Given the description of an element on the screen output the (x, y) to click on. 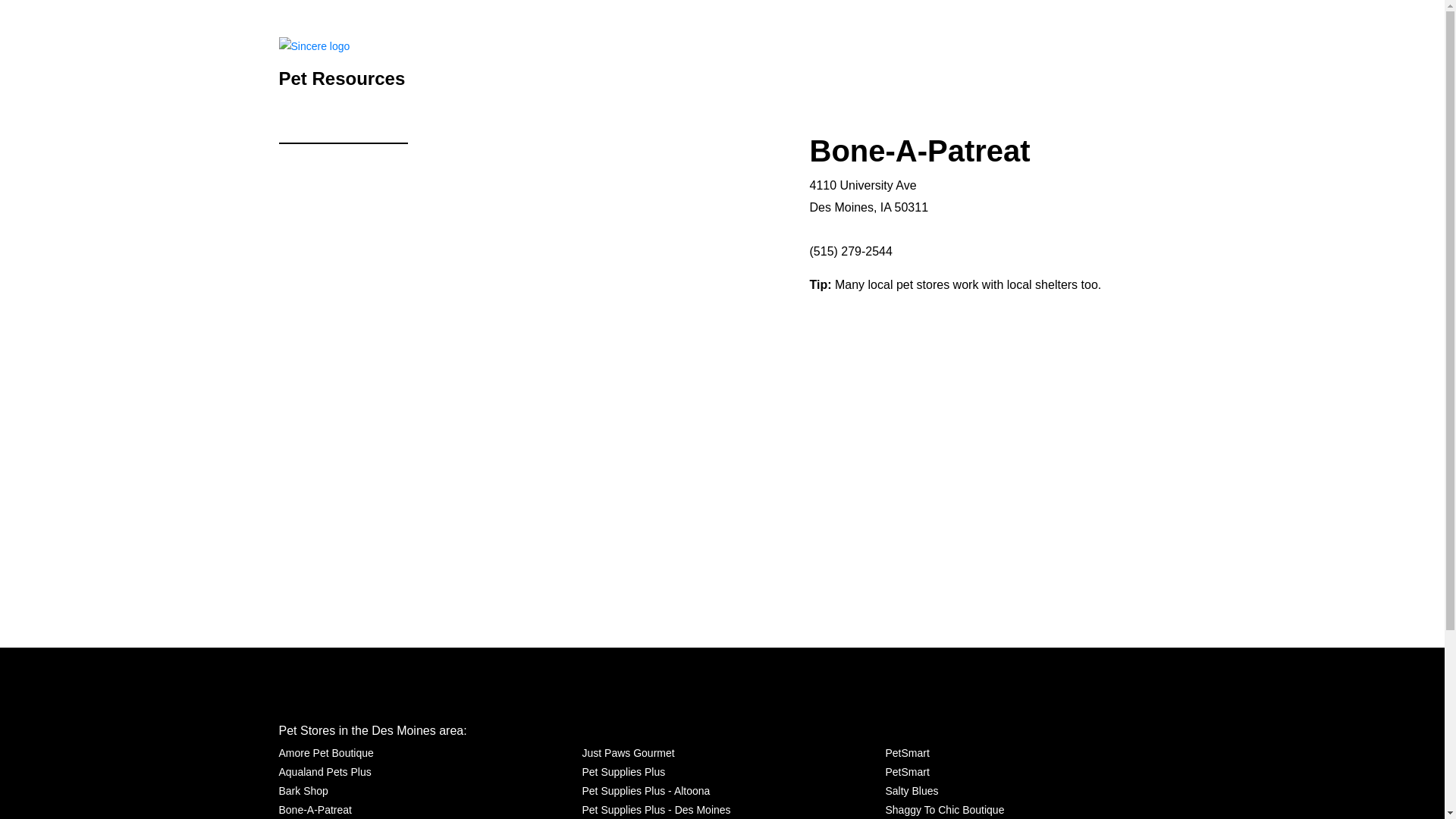
Salty Blues (911, 791)
Pet Stores in the Des Moines area: (373, 730)
Shaggy To Chic Boutique (944, 809)
Pet Supplies Plus (622, 772)
Aqualand Pets Plus (325, 772)
Pet Supplies Plus - Des Moines (655, 809)
PetSmart (906, 752)
Bark Shop (304, 791)
PetSmart (906, 772)
Just Paws Gourmet (627, 752)
